Given the description of an element on the screen output the (x, y) to click on. 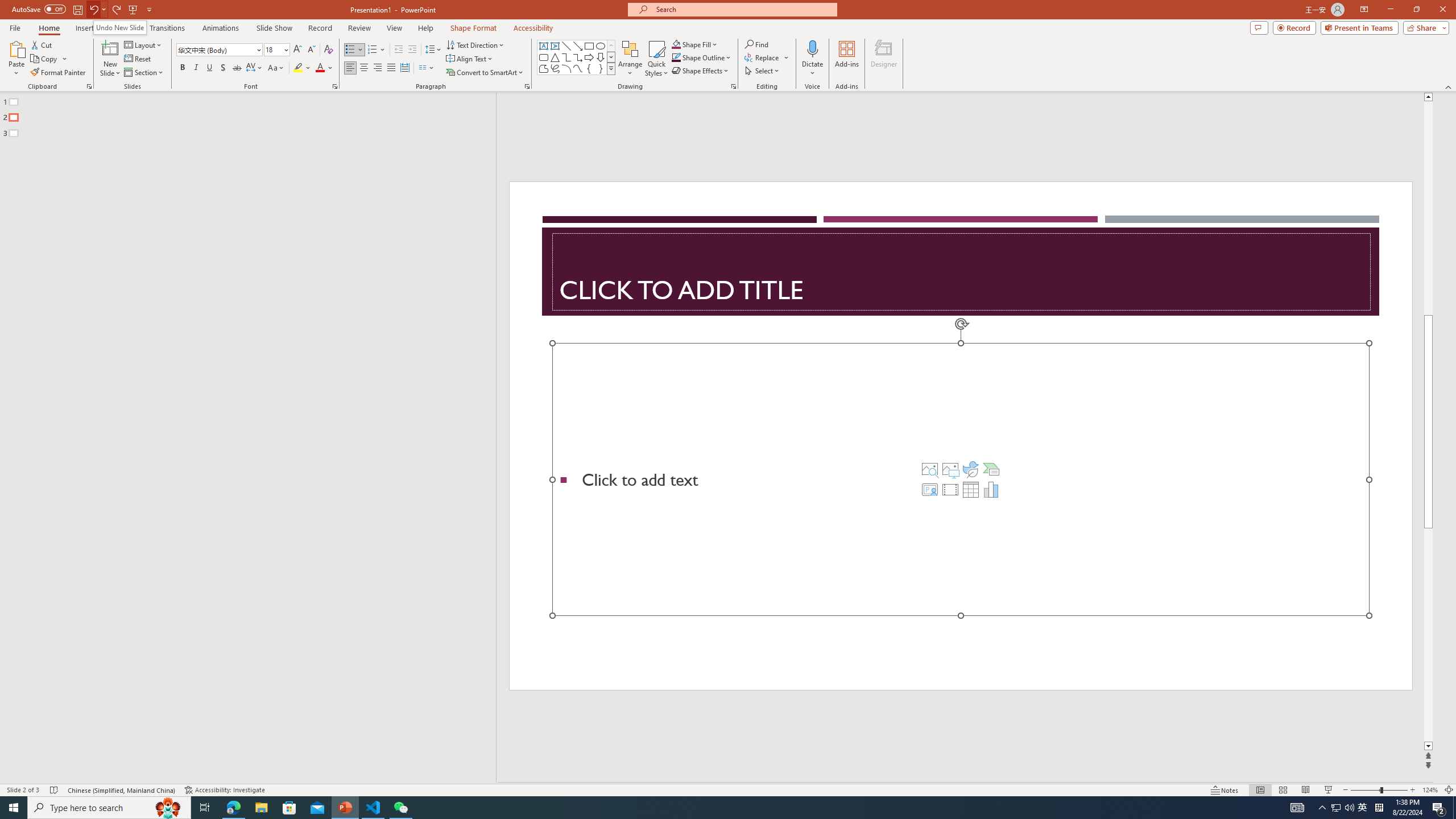
Zoom 124% (1430, 790)
Insert Chart (991, 489)
Insert Video (949, 489)
